Given the description of an element on the screen output the (x, y) to click on. 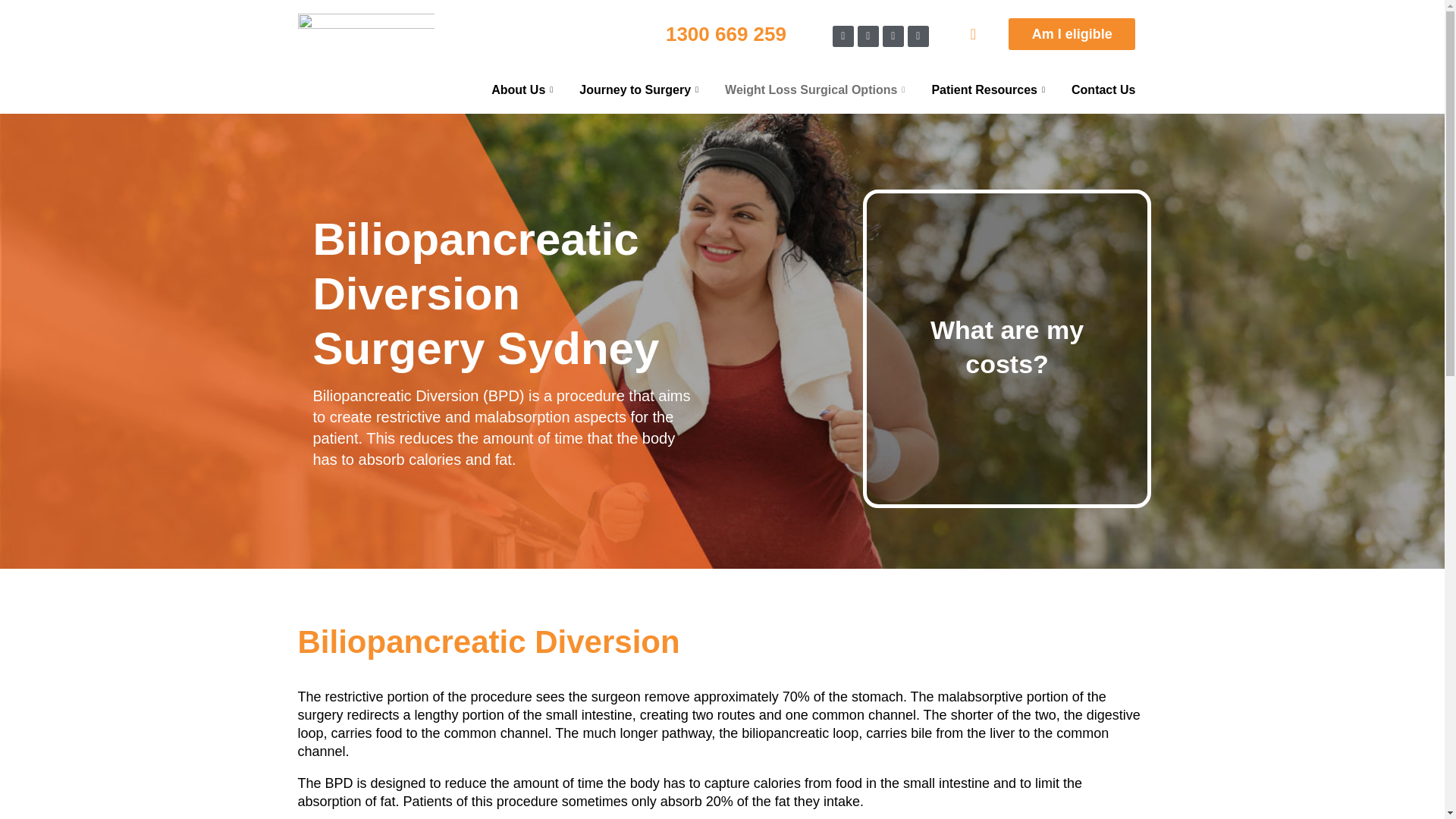
1300 669 259 (725, 34)
Search (1356, 814)
